Given the description of an element on the screen output the (x, y) to click on. 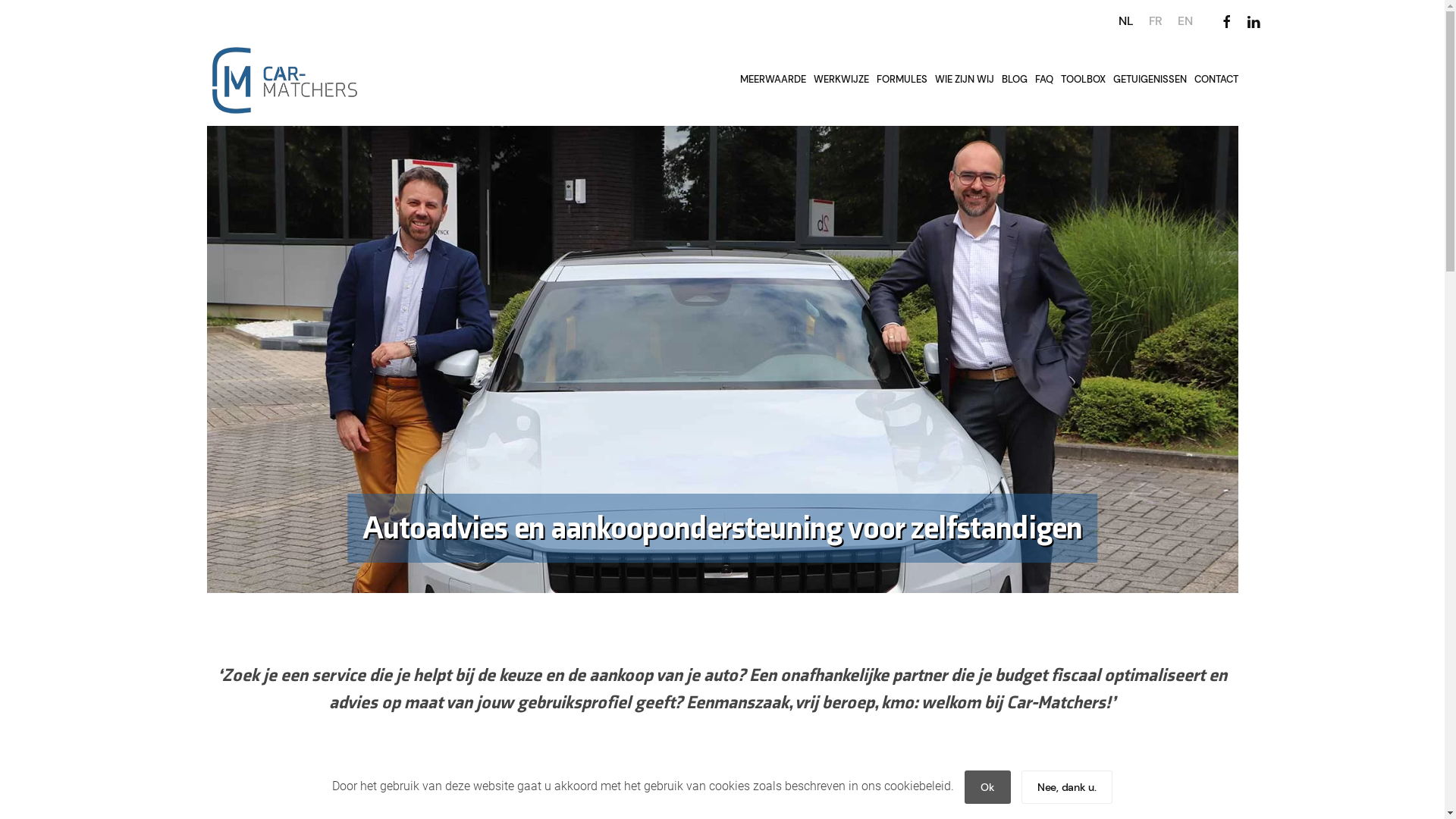
FORMULES Element type: text (901, 80)
MEERWAARDE Element type: text (772, 80)
FR Element type: text (1155, 21)
WERKWIJZE Element type: text (840, 80)
NL Element type: text (1125, 21)
FAQ Element type: text (1044, 80)
EN Element type: text (1184, 21)
TOOLBOX Element type: text (1083, 80)
BLOG Element type: text (1014, 80)
WIE ZIJN WIJ Element type: text (964, 80)
Maak een onderbouwde keuze en spaar tijd en geld Element type: text (453, 784)
CONTACT Element type: text (1216, 80)
GETUIGENISSEN Element type: text (1148, 80)
Ok Element type: text (987, 786)
Nee, dank u. Element type: text (1066, 786)
